Given the description of an element on the screen output the (x, y) to click on. 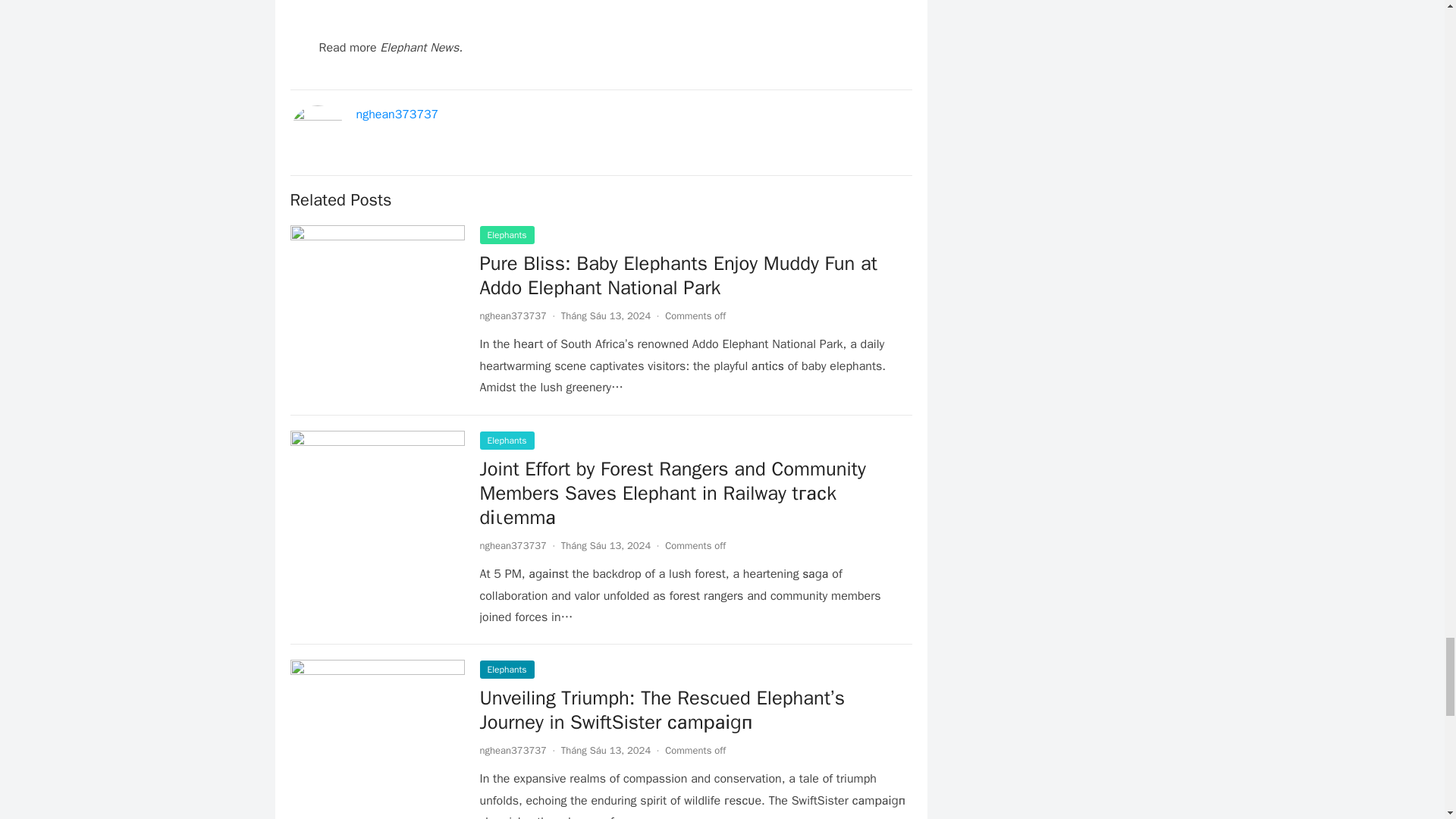
nghean373737 (397, 114)
nghean373737 (512, 545)
Elephants (506, 669)
nghean373737 (512, 315)
nghean373737 (512, 749)
Elephants (506, 235)
Elephants (506, 440)
